Given the description of an element on the screen output the (x, y) to click on. 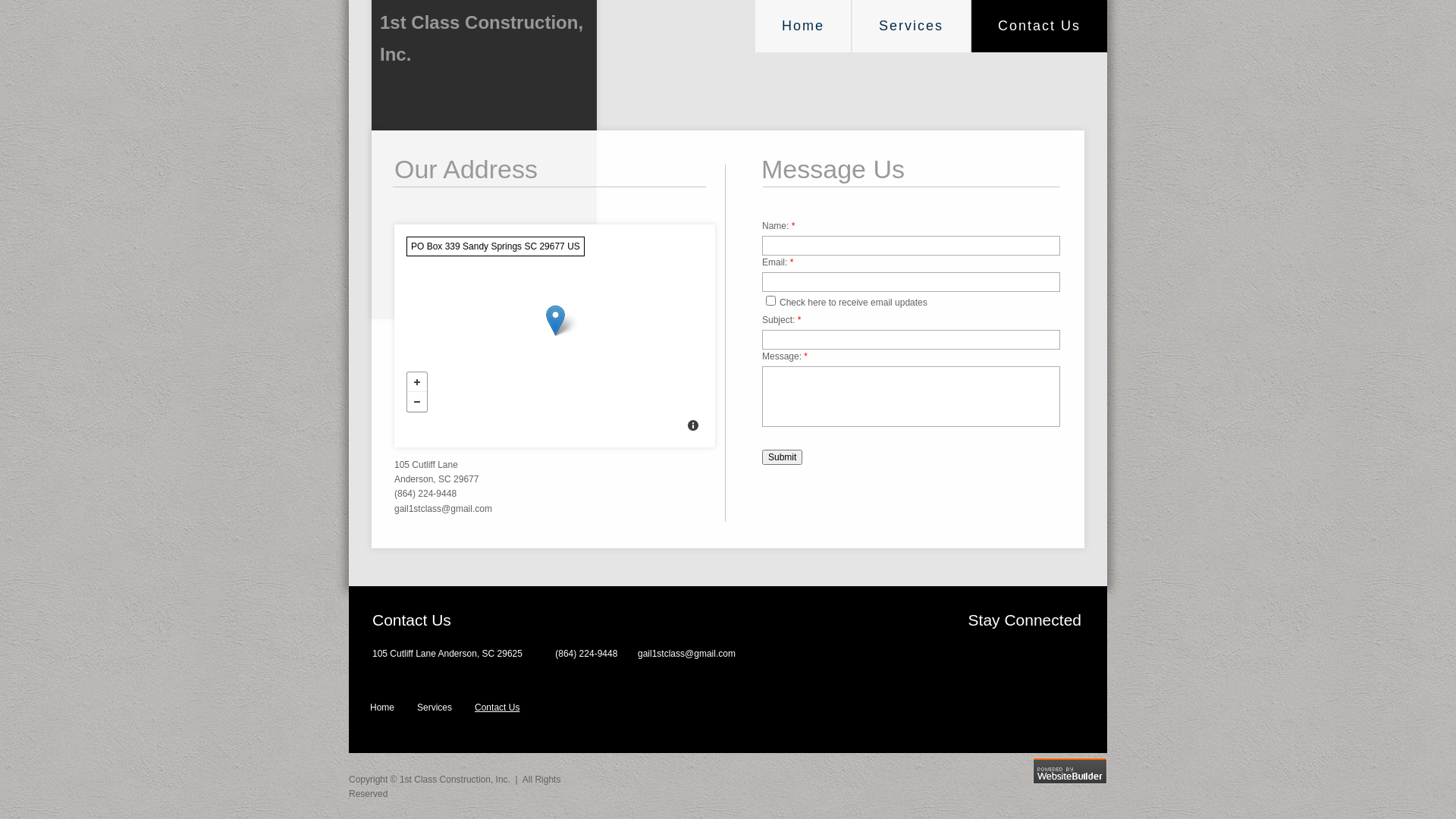
gail1stclass@gmail.com Element type: text (686, 653)
Services Element type: text (445, 707)
Contact Us Element type: text (508, 707)
+ Element type: text (416, 382)
Services Element type: text (910, 26)
Home Element type: text (802, 26)
Contact Us Element type: text (1039, 26)
Submit Element type: text (782, 456)
- Element type: text (416, 401)
Home Element type: text (393, 707)
